Given the description of an element on the screen output the (x, y) to click on. 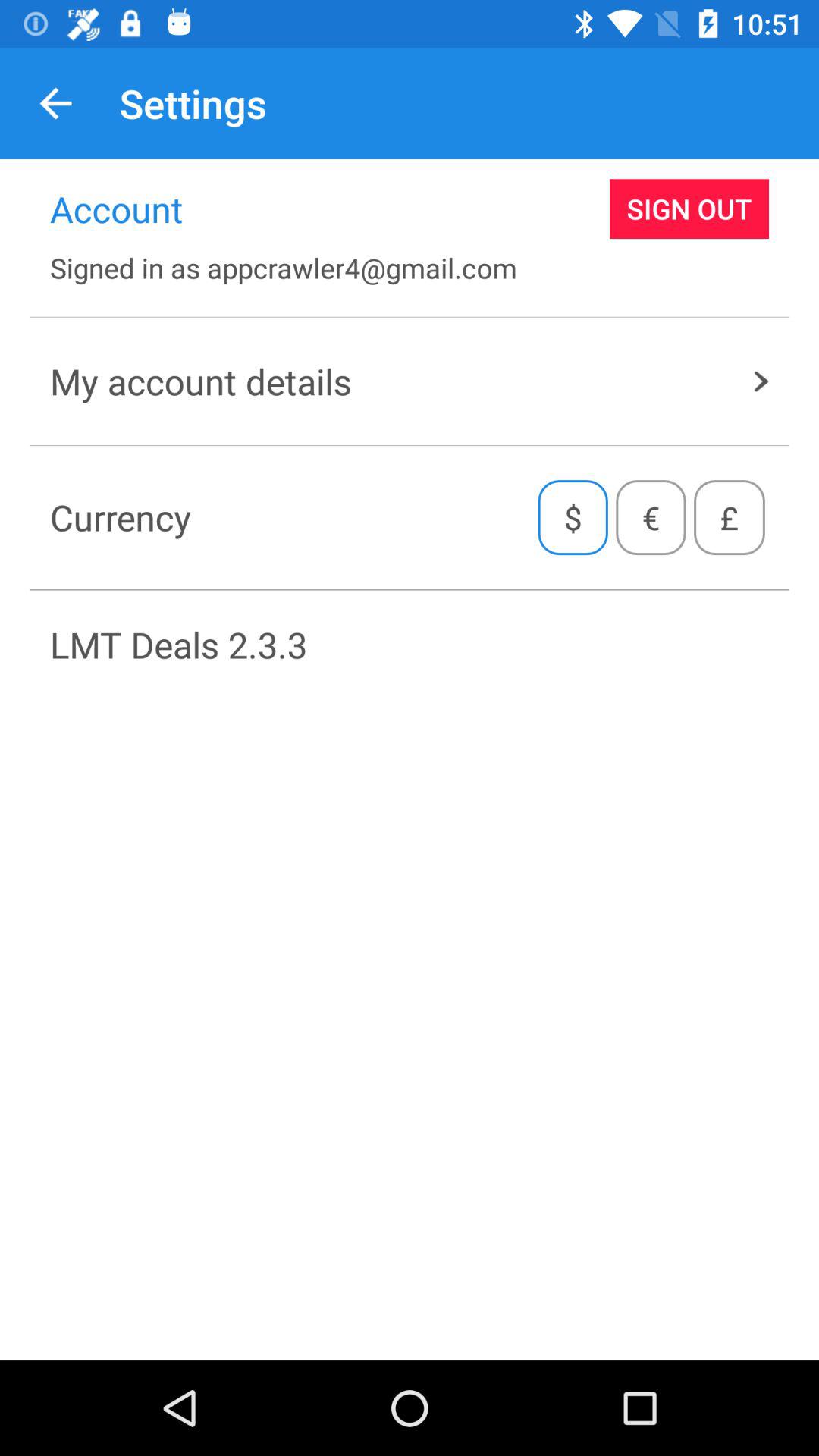
select icon above signed in as item (688, 208)
